Given the description of an element on the screen output the (x, y) to click on. 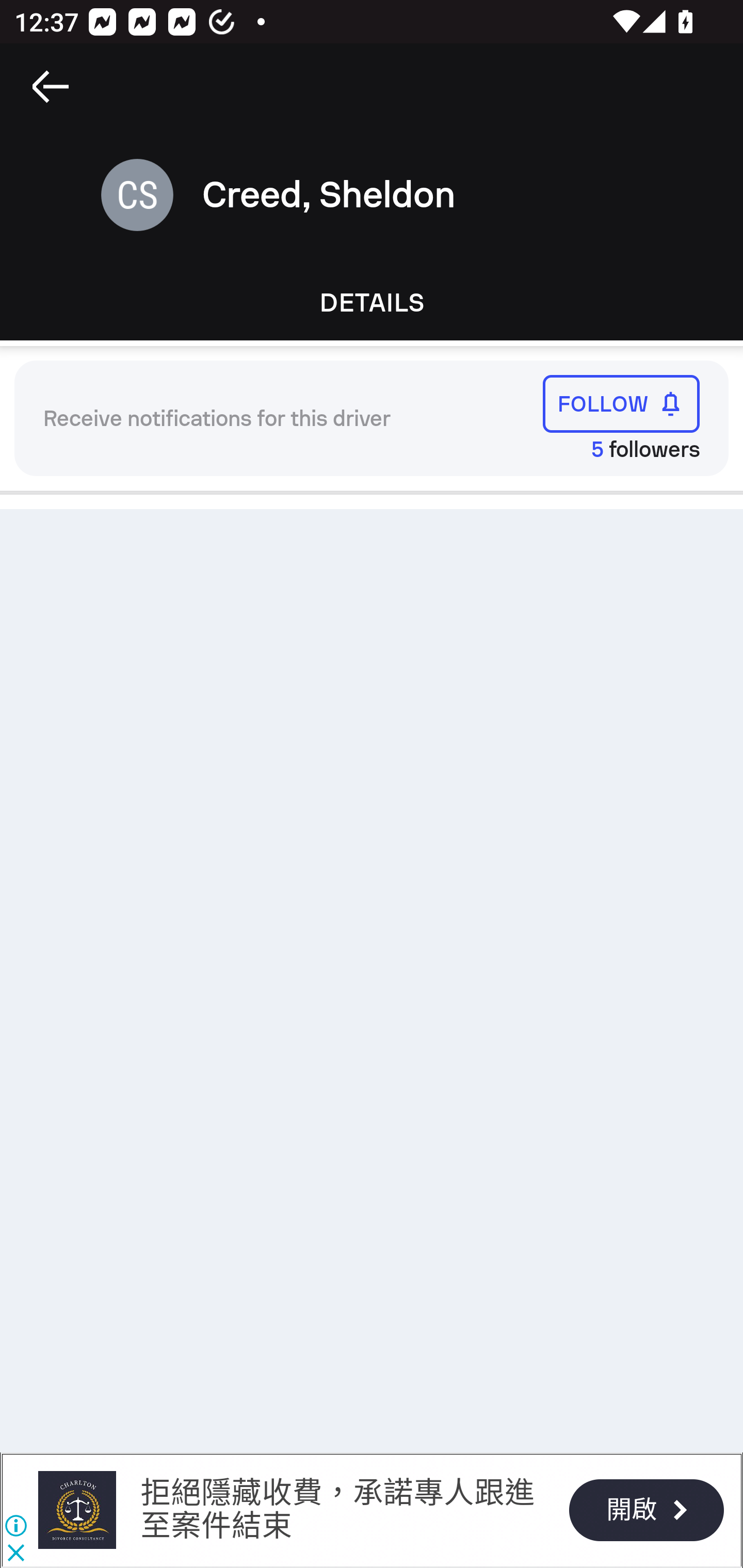
Navigate up (50, 86)
FOLLOW (621, 403)
查爾頓事務所 (76, 1509)
開啟 (645, 1509)
